Given the description of an element on the screen output the (x, y) to click on. 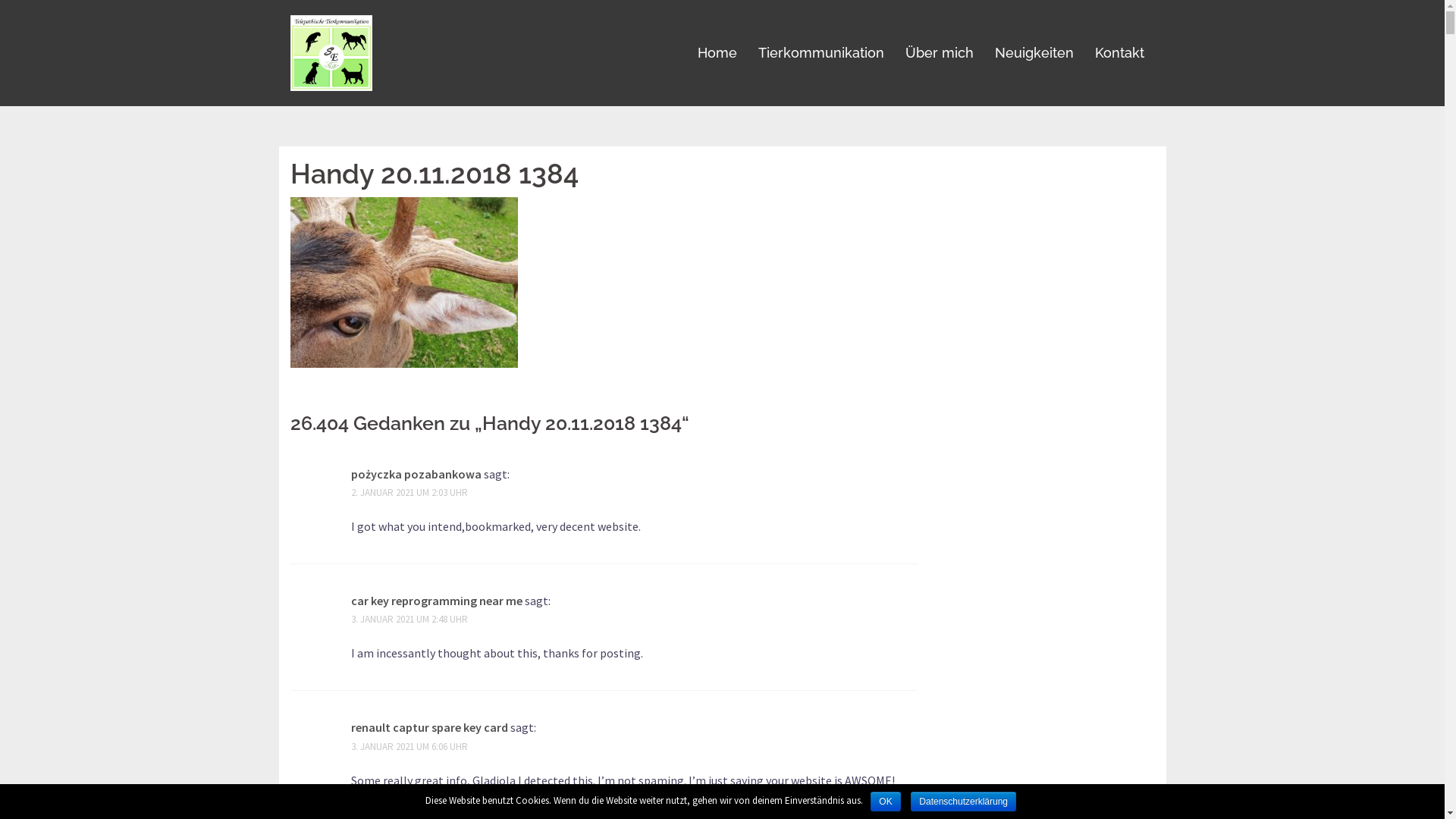
car key reprogramming near me Element type: text (435, 600)
OK Element type: text (885, 801)
3. JANUAR 2021 UM 6:06 UHR Element type: text (408, 746)
Neuigkeiten Element type: text (1033, 53)
Home Element type: text (717, 53)
3. JANUAR 2021 UM 2:48 UHR Element type: text (408, 618)
Springe zum Inhalt Element type: text (0, 0)
Tierkommunikation Element type: text (821, 53)
renault captur spare key card Element type: text (428, 726)
2. JANUAR 2021 UM 2:03 UHR Element type: text (408, 492)
Kontakt Element type: text (1119, 53)
